Given the description of an element on the screen output the (x, y) to click on. 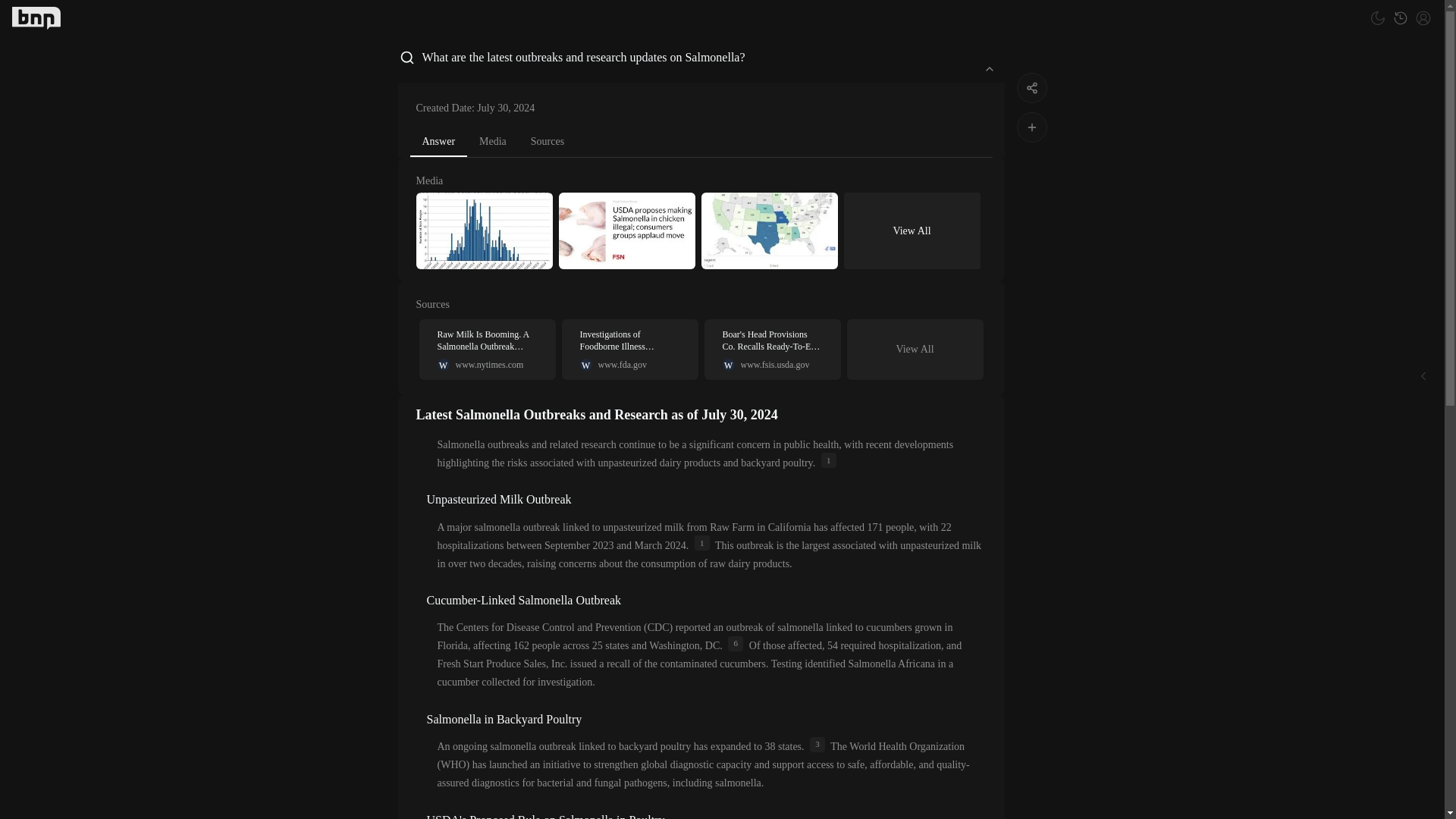
6 (735, 643)
1 (828, 459)
View All (913, 349)
Toggle theme (1377, 17)
Sources (547, 141)
3 (817, 744)
Media (492, 141)
Answer (438, 142)
collapse (989, 68)
1 (702, 542)
BNNGPT (36, 17)
